Given the description of an element on the screen output the (x, y) to click on. 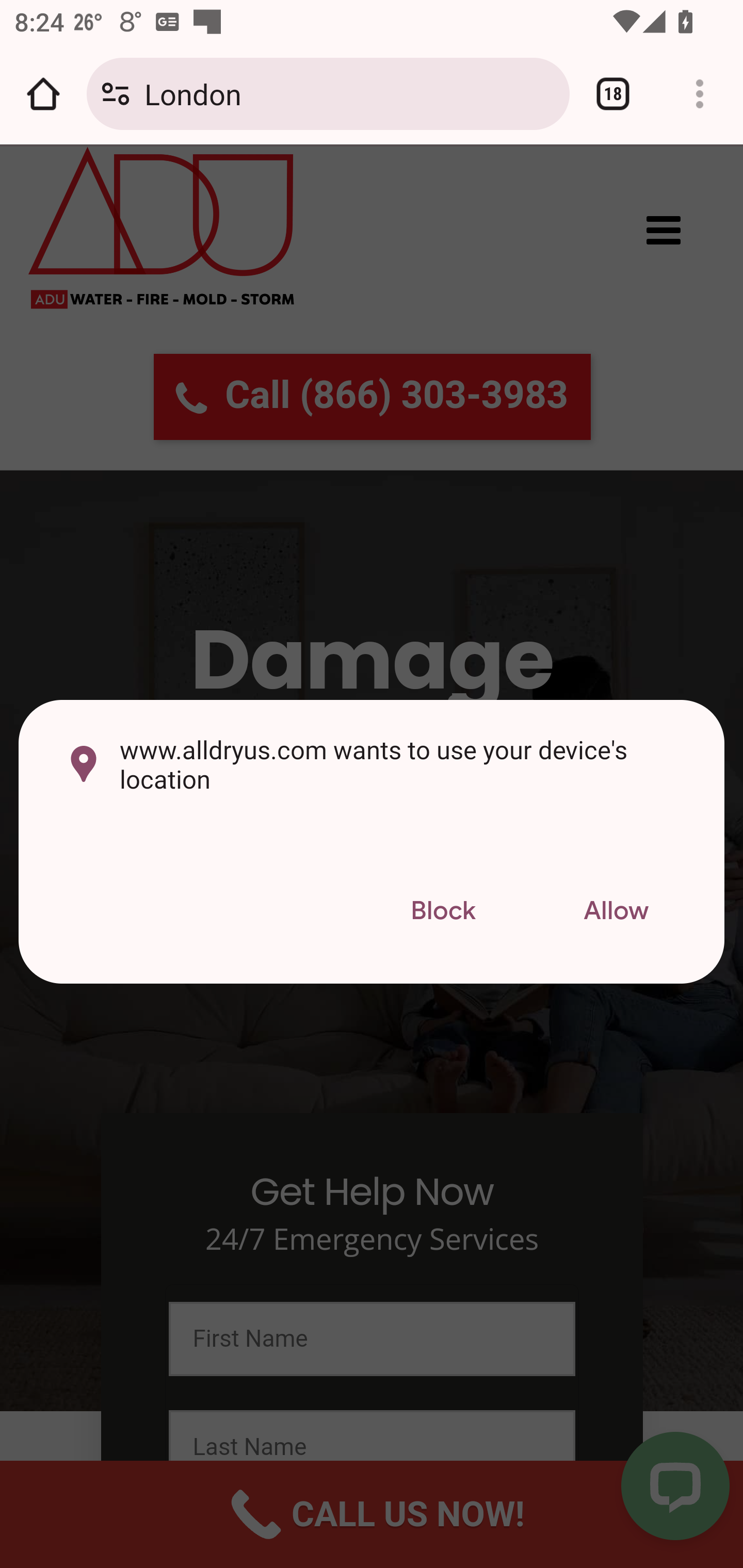
Open the home page (43, 93)
Connection is secure (115, 93)
Switch or close tabs (612, 93)
Customize and control Google Chrome (699, 93)
London (349, 92)
Block (442, 911)
Allow (615, 911)
